Given the description of an element on the screen output the (x, y) to click on. 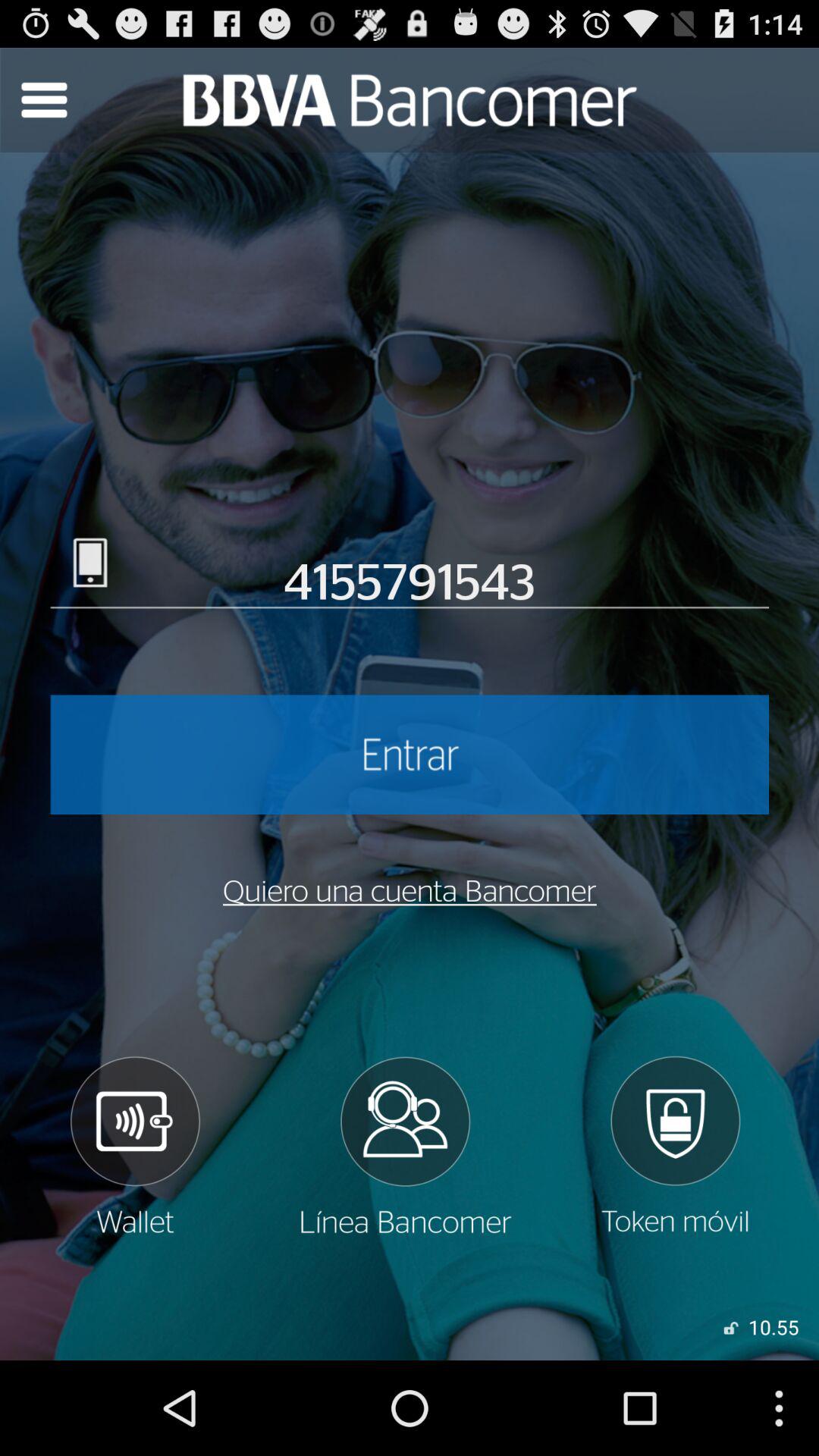
log in (409, 754)
